Given the description of an element on the screen output the (x, y) to click on. 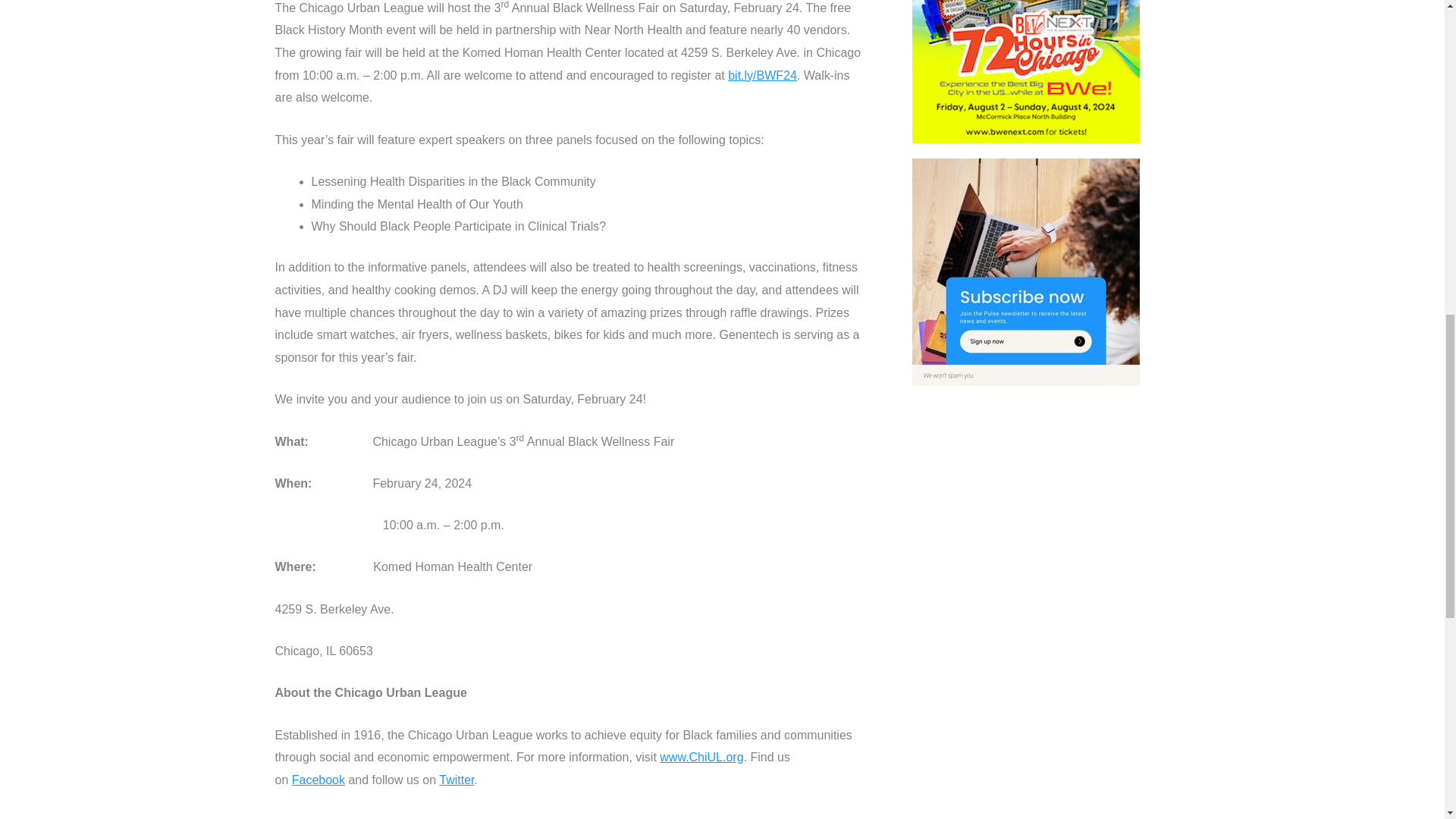
BWE-72 Hours to Chicago-Square-June 2024 (1026, 71)
